Given the description of an element on the screen output the (x, y) to click on. 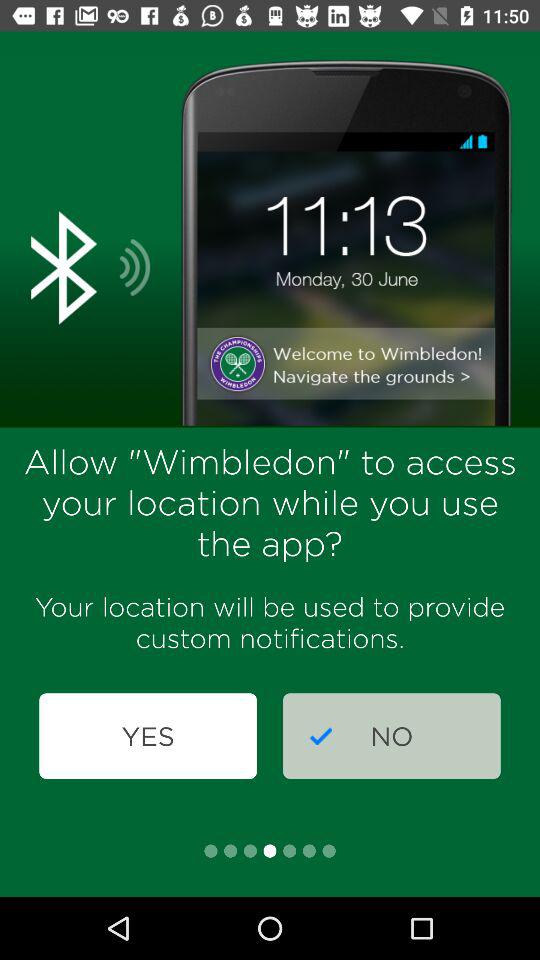
scroll until the no (391, 735)
